Given the description of an element on the screen output the (x, y) to click on. 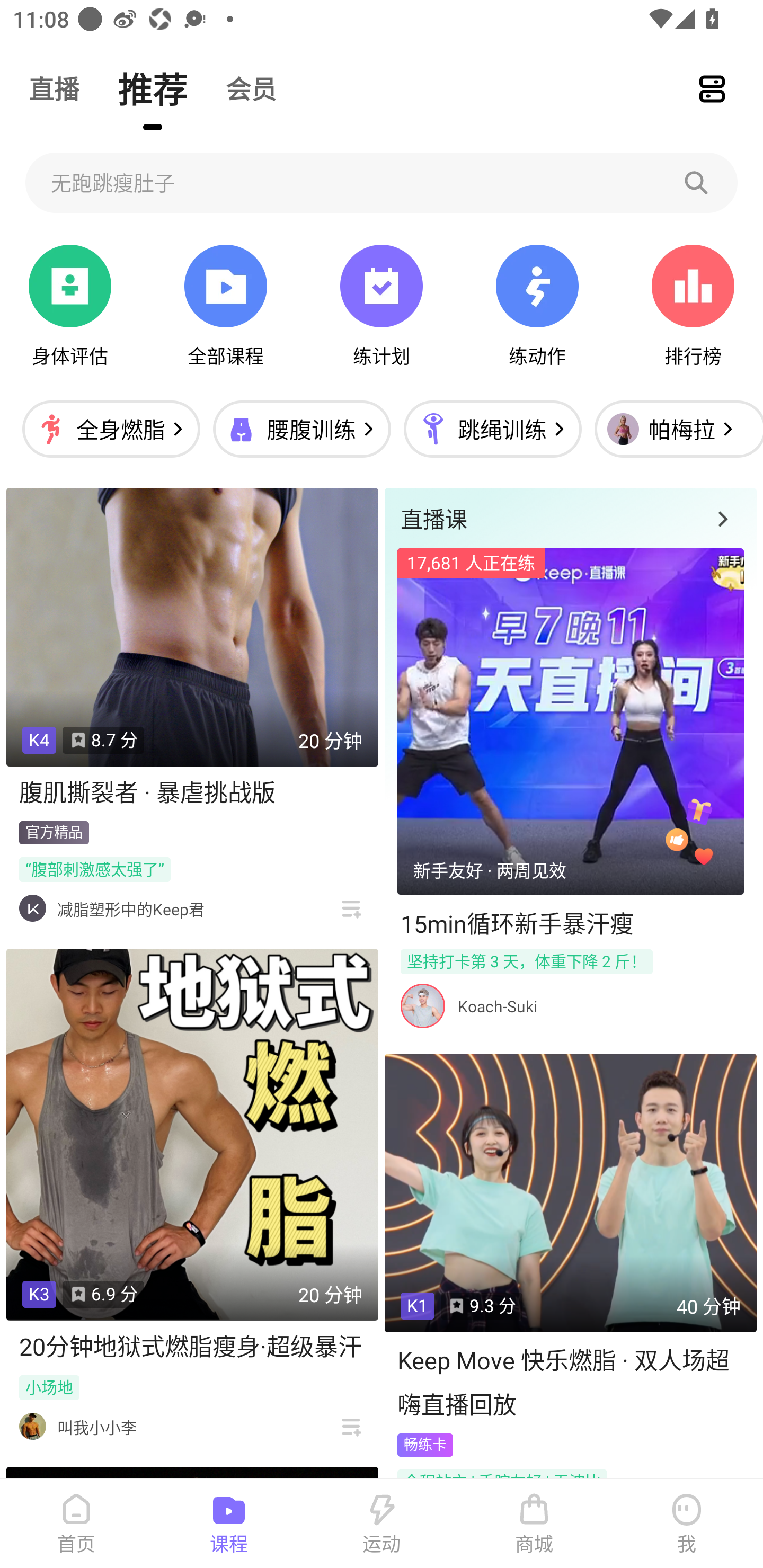
直播 (53, 88)
推荐 (152, 88)
会员 (251, 88)
无跑跳瘦肚子 (381, 182)
身体评估 (69, 306)
全部课程 (225, 306)
练计划 (381, 306)
练动作 (537, 306)
排行榜 (692, 306)
全身燃脂 更多 (110, 428)
腰腹训练 更多 (301, 428)
跳绳训练 更多 (492, 428)
帕梅拉 更多 (673, 428)
直播课 (570, 517)
减脂塑形中的Keep君 (130, 909)
K3 6.9 分 20 分钟 20分钟地狱式燃脂瘦身·超级暴汗 小场地 叫我小小李 (192, 1197)
Koach-Suki (497, 1006)
叫我小小李 (96, 1426)
首页 (76, 1523)
课程 (228, 1523)
运动 (381, 1523)
商城 (533, 1523)
我 (686, 1523)
